Given the description of an element on the screen output the (x, y) to click on. 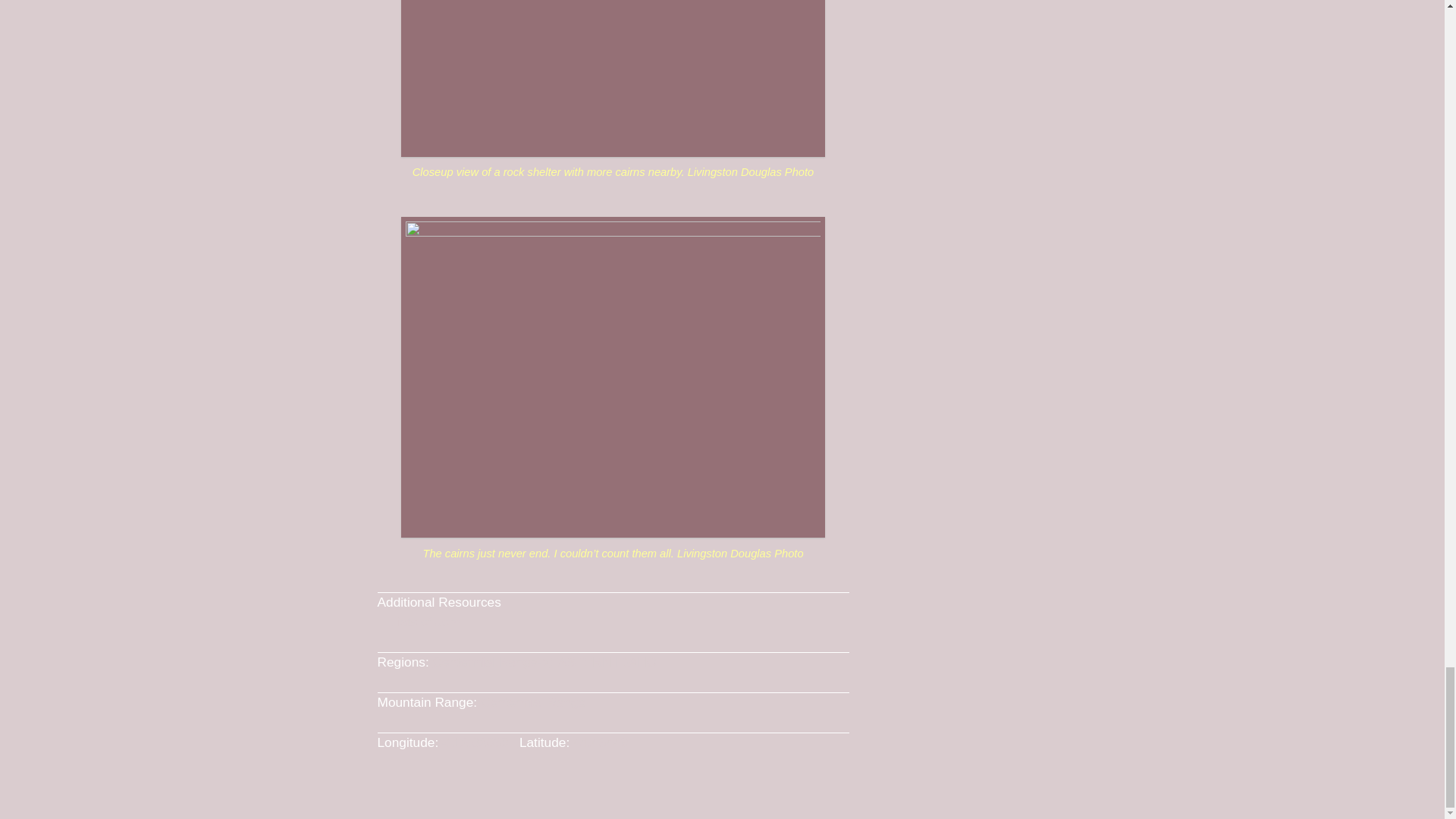
EASTERN IDAHO (603, 661)
Lists of John (427, 621)
Centennial Range (484, 661)
